Given the description of an element on the screen output the (x, y) to click on. 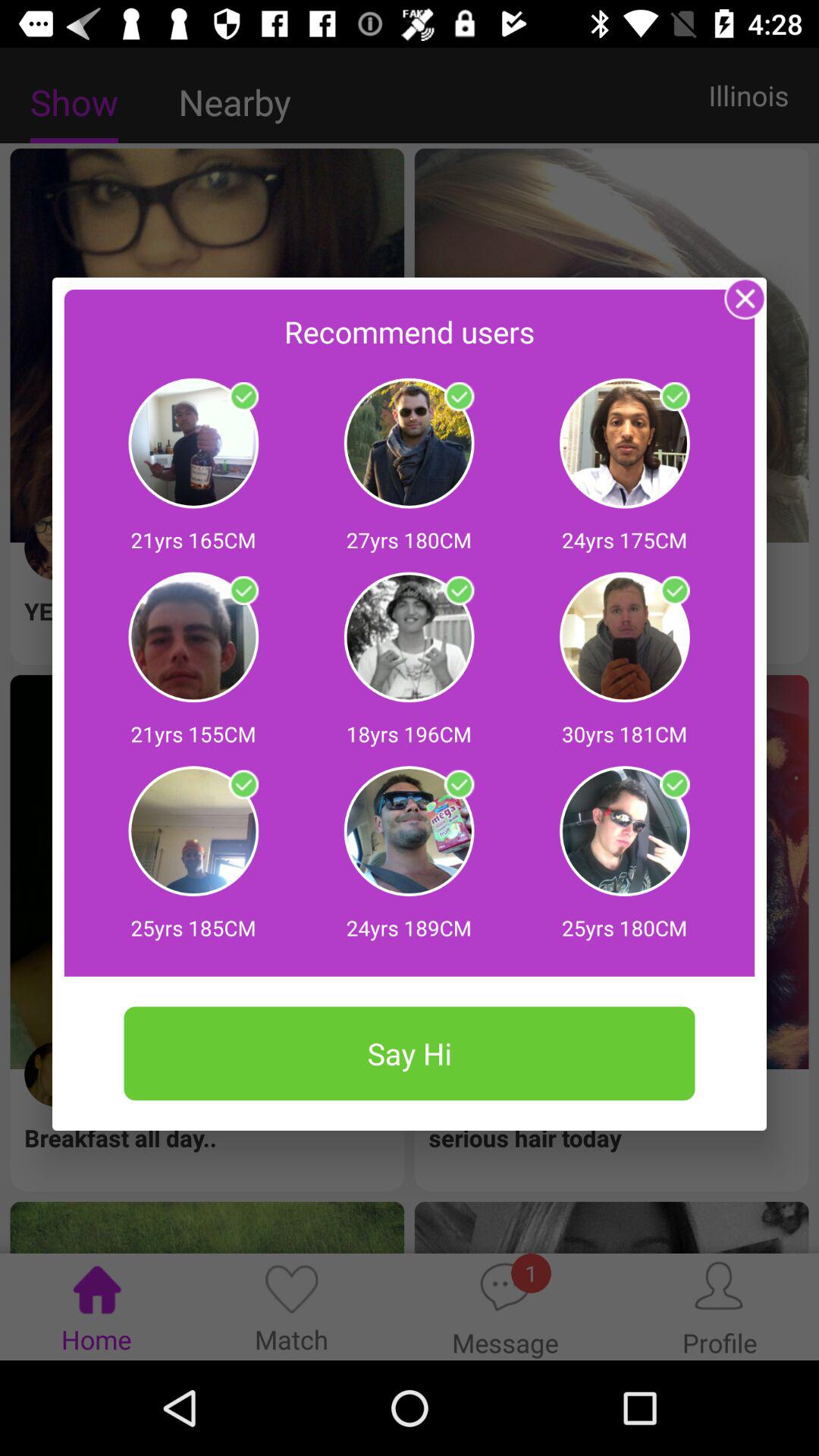
like (459, 396)
